Given the description of an element on the screen output the (x, y) to click on. 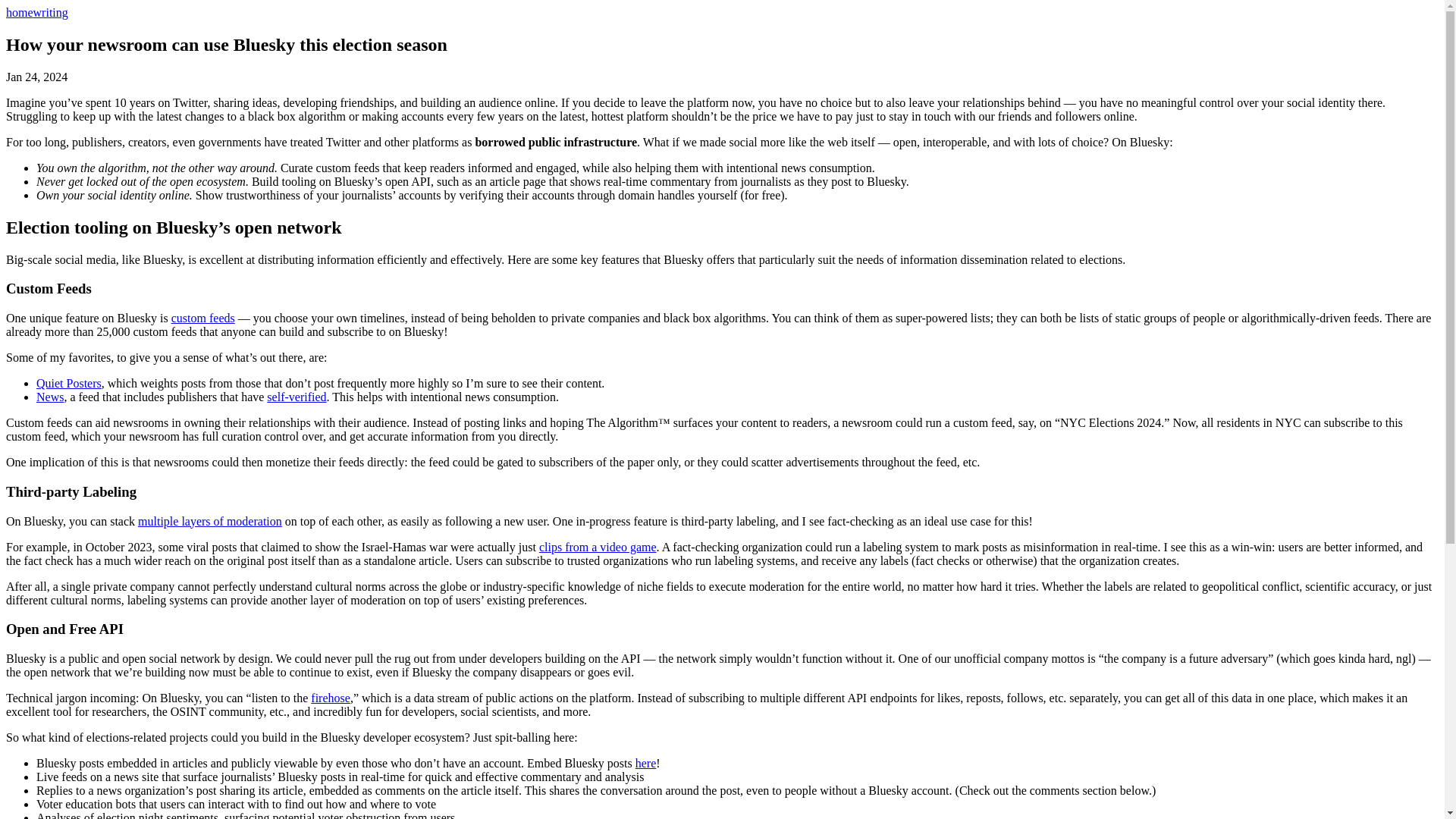
clips from a video game (597, 545)
News (50, 396)
self-verified (296, 396)
writing (50, 11)
multiple layers of moderation (210, 520)
custom feeds (202, 318)
firehose (330, 697)
home (19, 11)
Quiet Posters (68, 382)
here (645, 762)
